Given the description of an element on the screen output the (x, y) to click on. 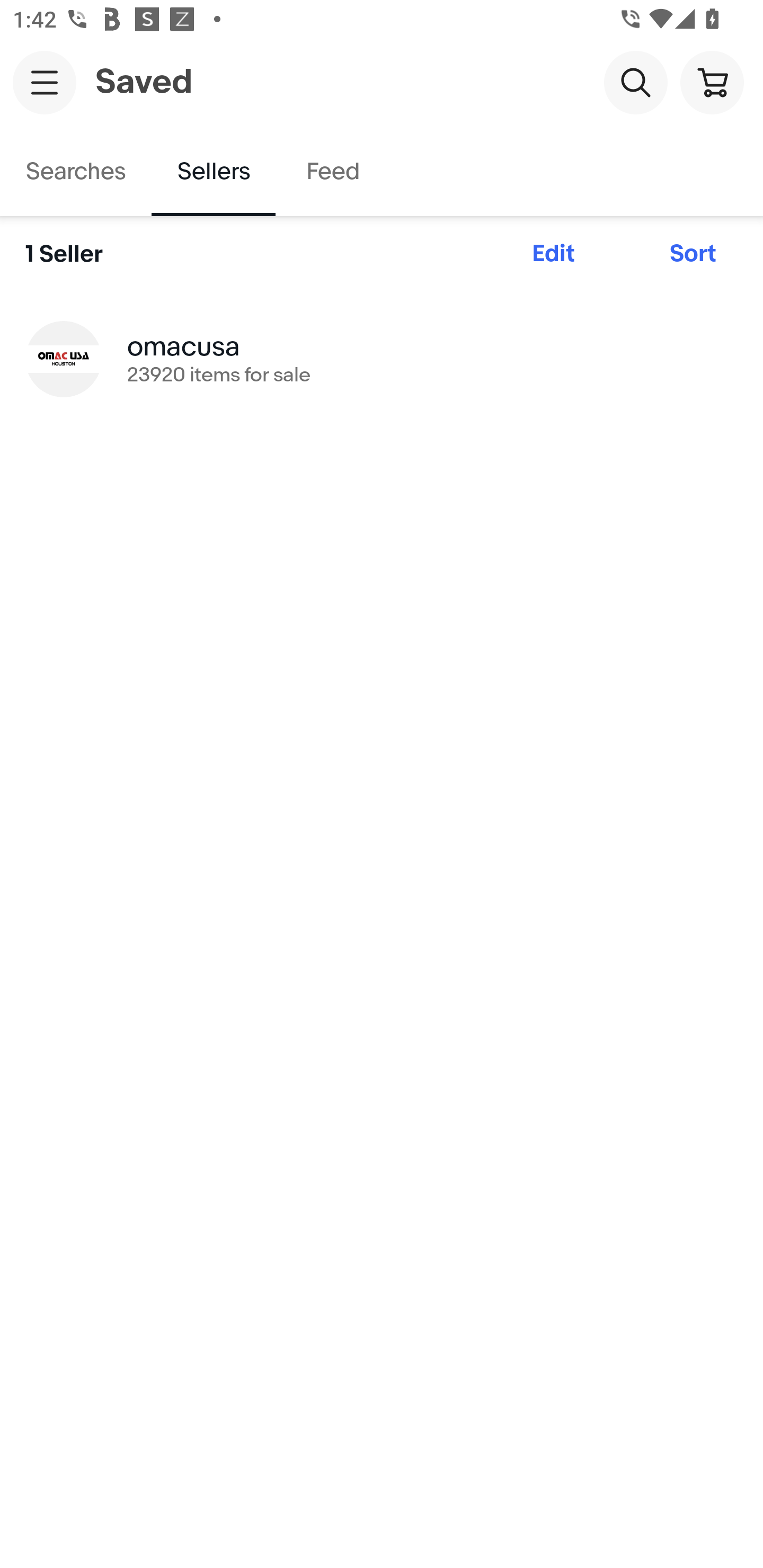
Main navigation, open (44, 82)
Search (635, 81)
Cart button shopping cart (711, 81)
Searches (75, 171)
Feed (332, 171)
Edit (552, 253)
Sort (693, 253)
omacusa 23920 items for sale (381, 357)
